Given the description of an element on the screen output the (x, y) to click on. 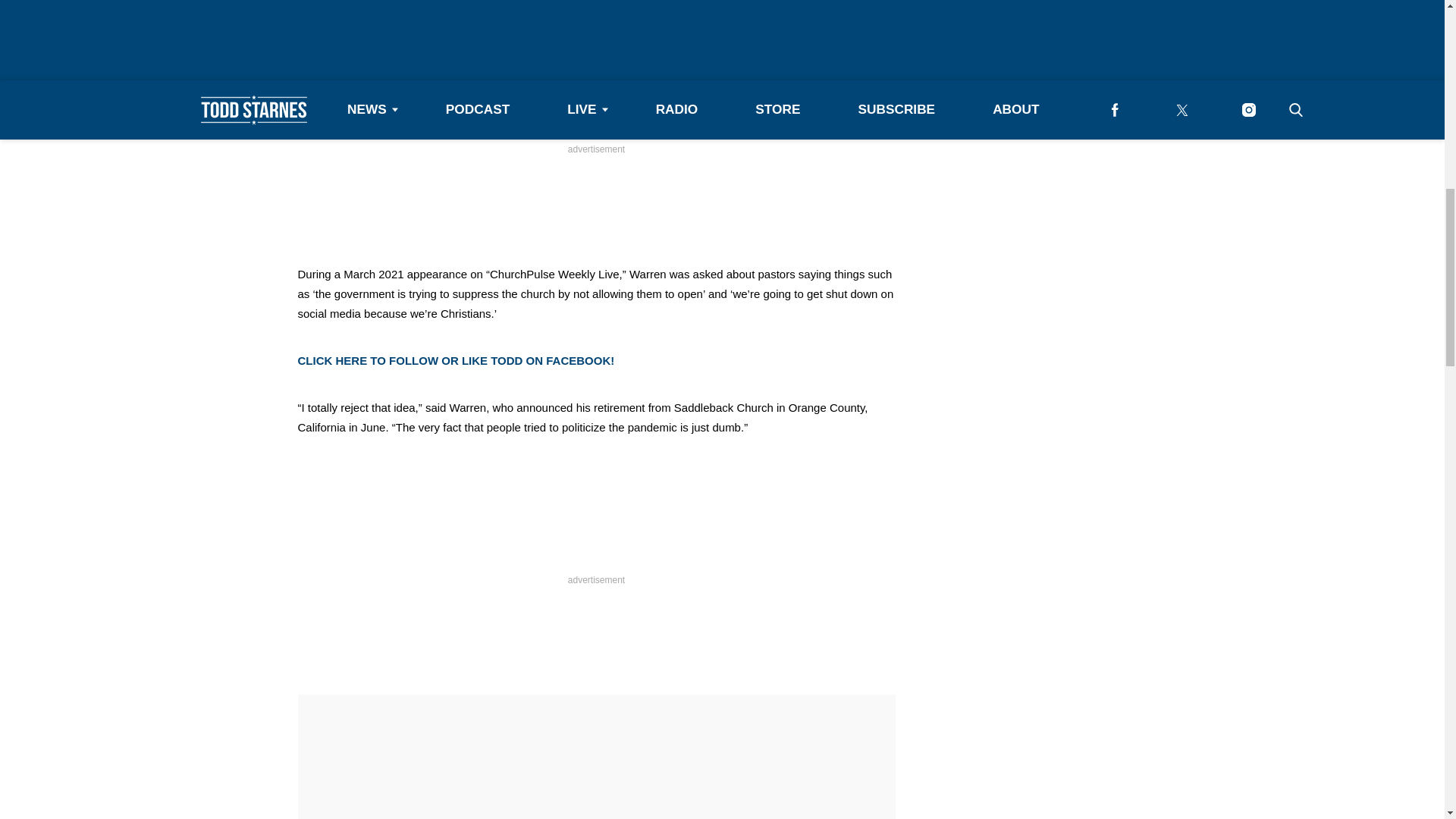
CLICK HERE TO FOLLOW OR LIKE TODD ON FACEBOOK! (455, 359)
